Given the description of an element on the screen output the (x, y) to click on. 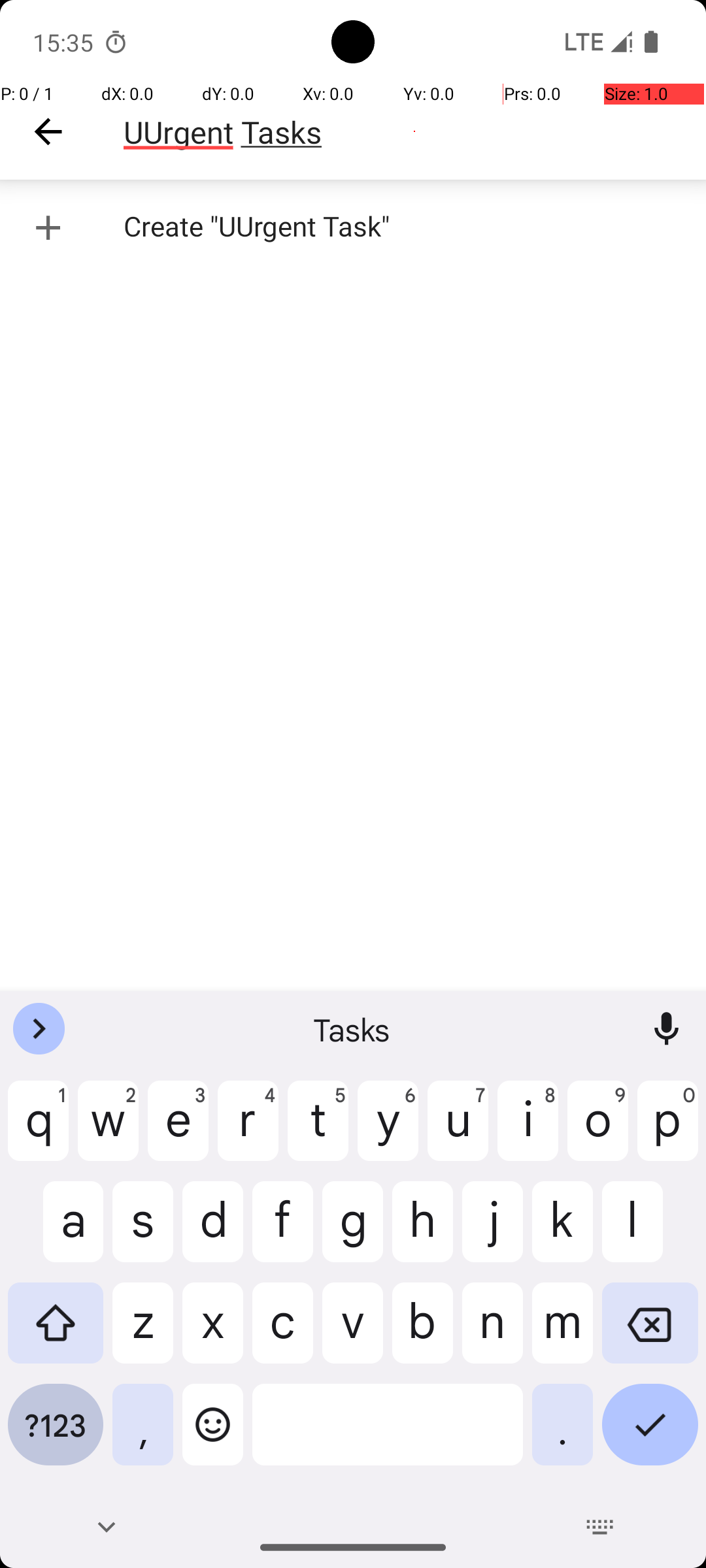
UUrgent Tasks Element type: android.widget.EditText (414, 131)
Create "UUrgent Task" Element type: android.widget.TextView (353, 227)
